Given the description of an element on the screen output the (x, y) to click on. 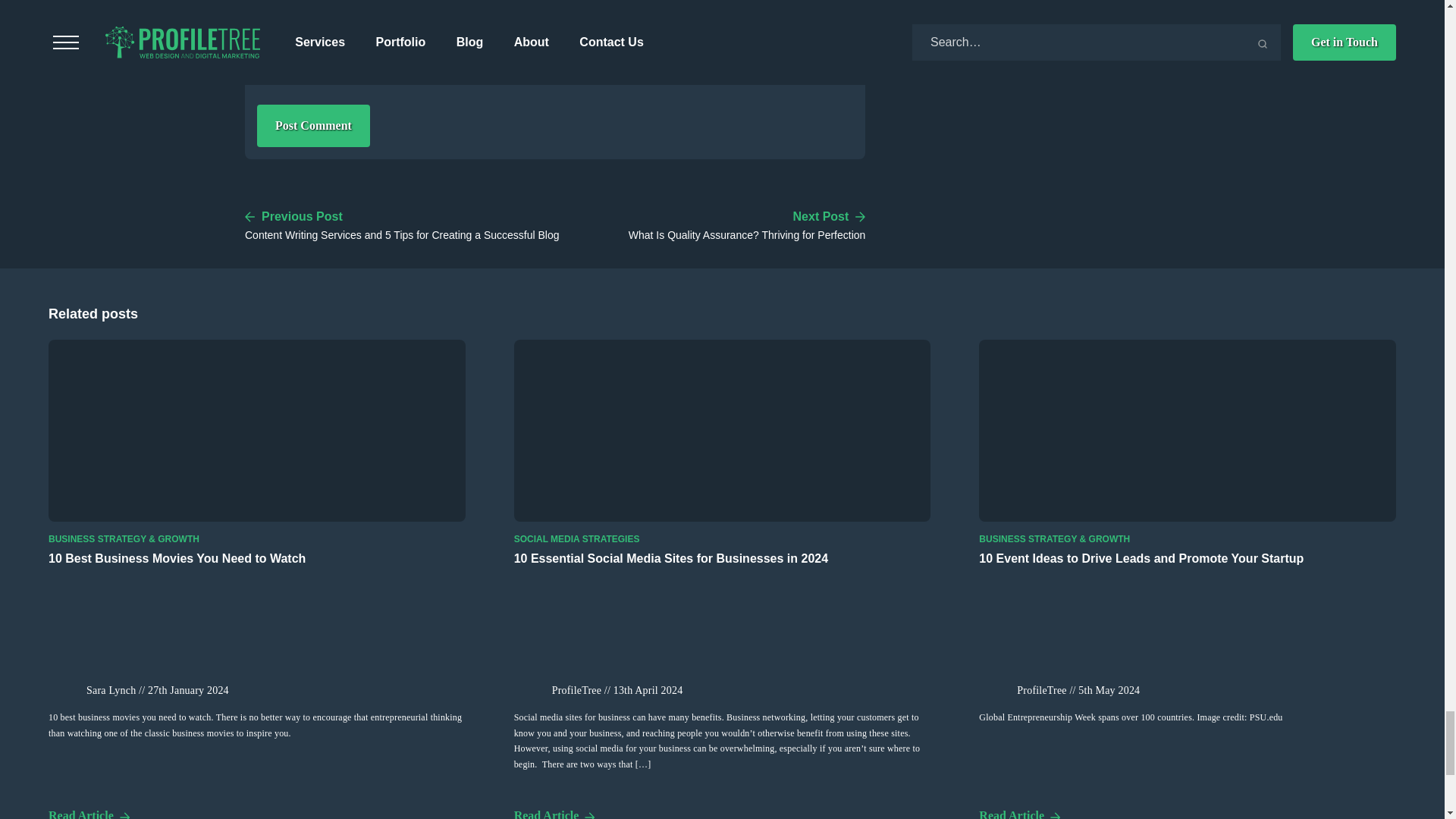
yes (261, 69)
Post Comment (313, 125)
